Given the description of an element on the screen output the (x, y) to click on. 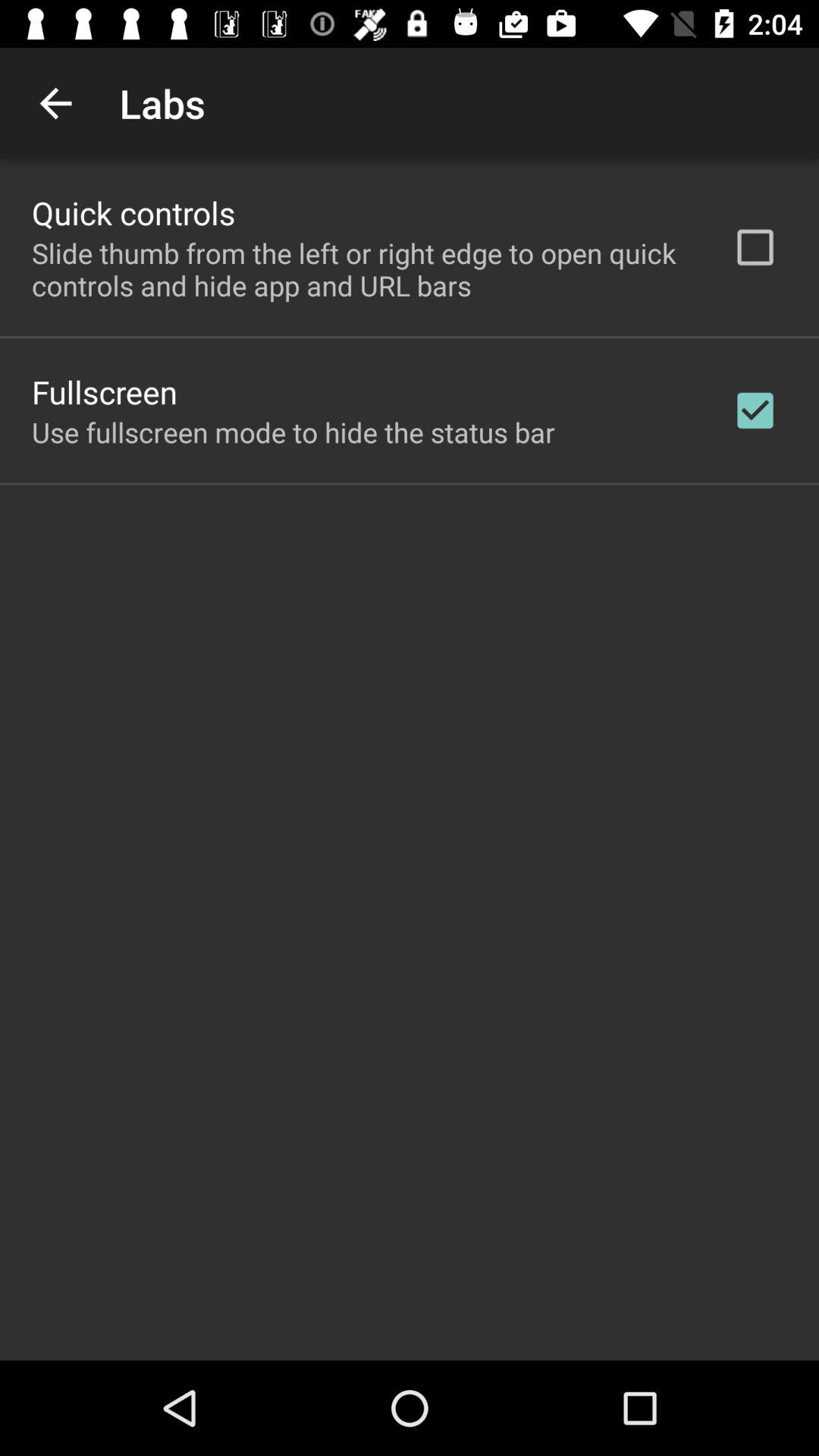
select the item next to labs app (55, 103)
